Given the description of an element on the screen output the (x, y) to click on. 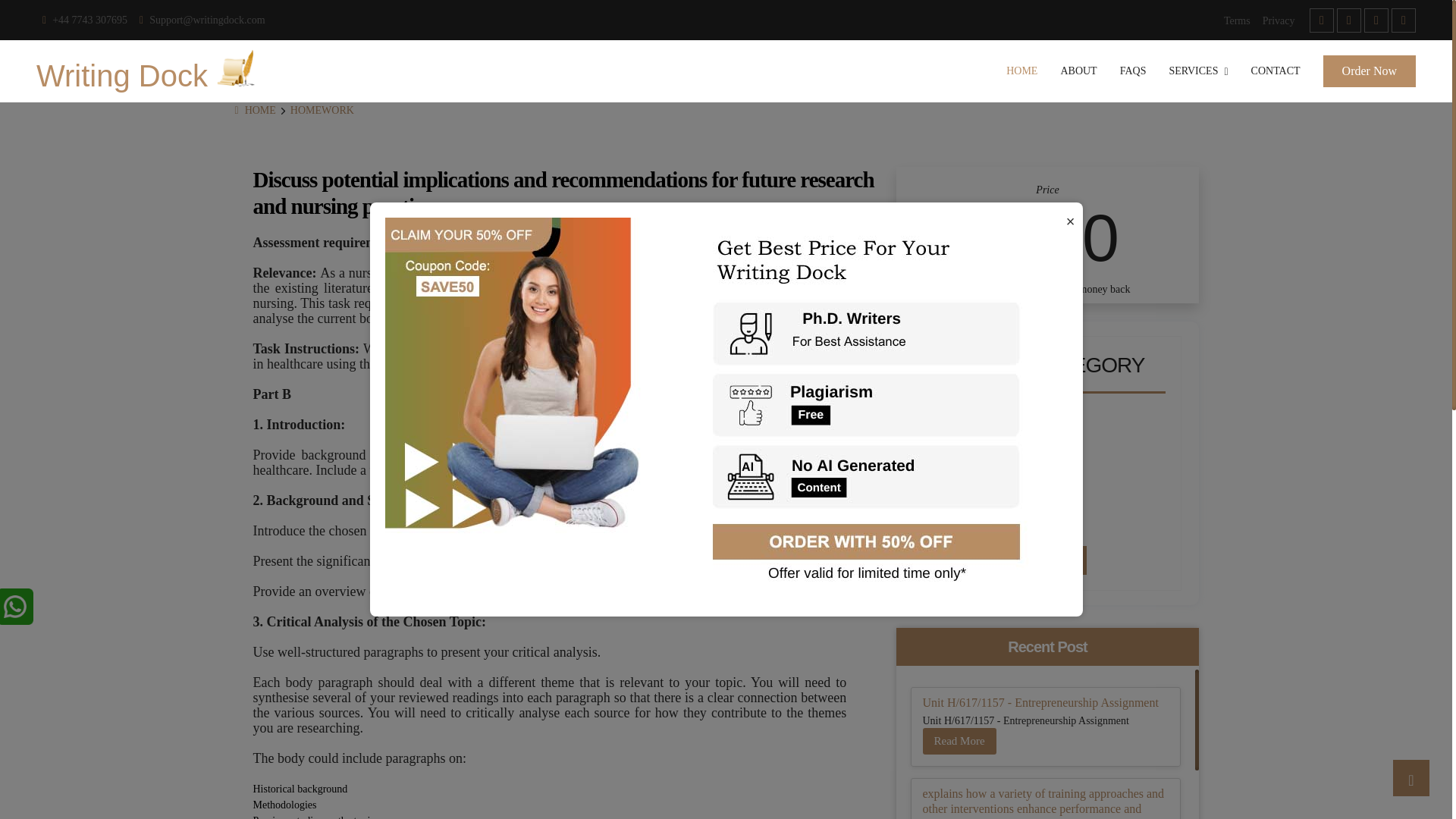
Order Now (1369, 70)
SERVICES (1198, 71)
Terms (1236, 19)
Writing Dock (151, 70)
Privacy (1278, 19)
